Given the description of an element on the screen output the (x, y) to click on. 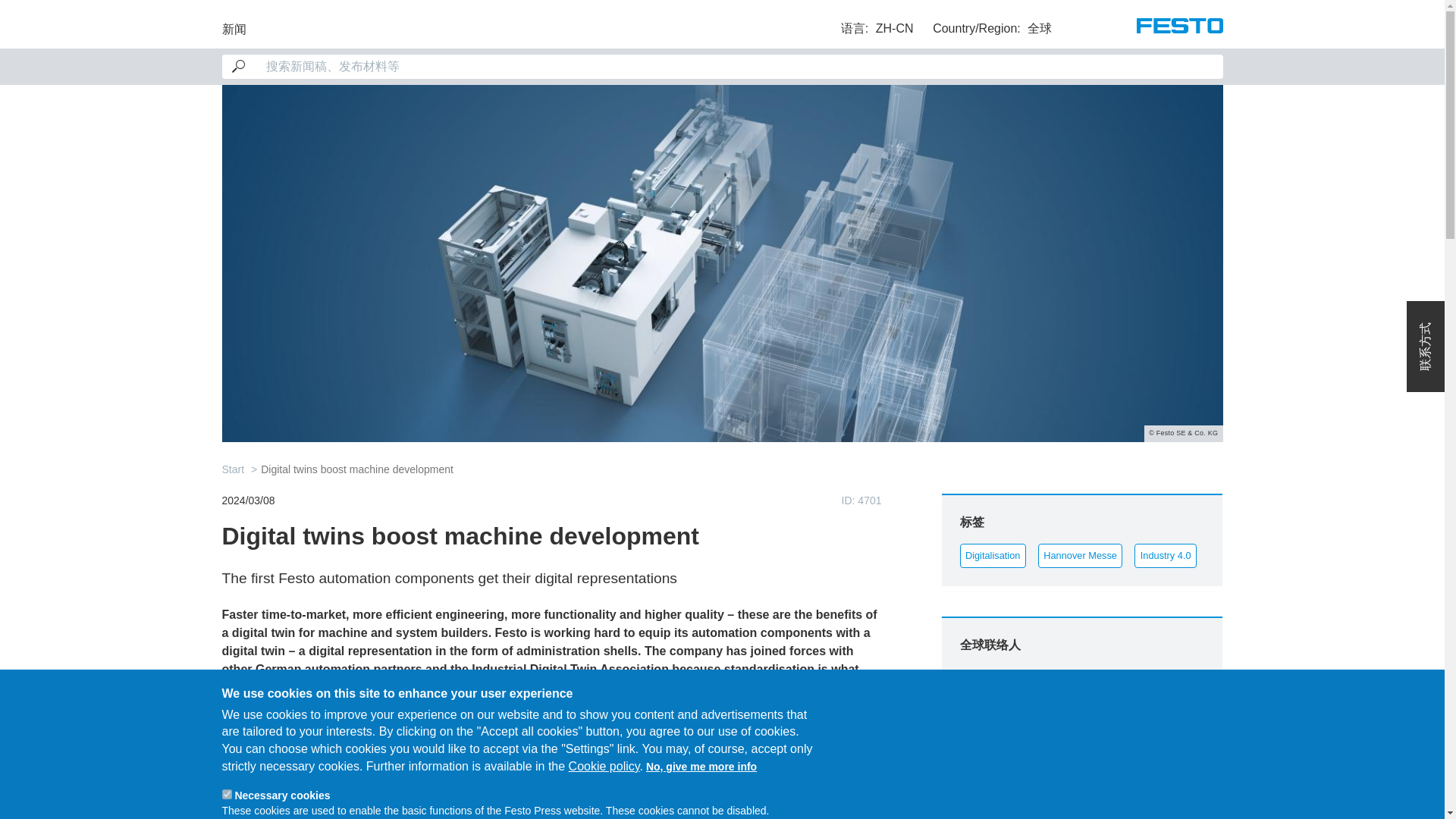
Hannover Messe (1080, 554)
Submit (29, 14)
Industry 4.0 (1165, 554)
Select a language (876, 28)
necessary (226, 794)
Digitalisation (992, 554)
Start (232, 469)
